Given the description of an element on the screen output the (x, y) to click on. 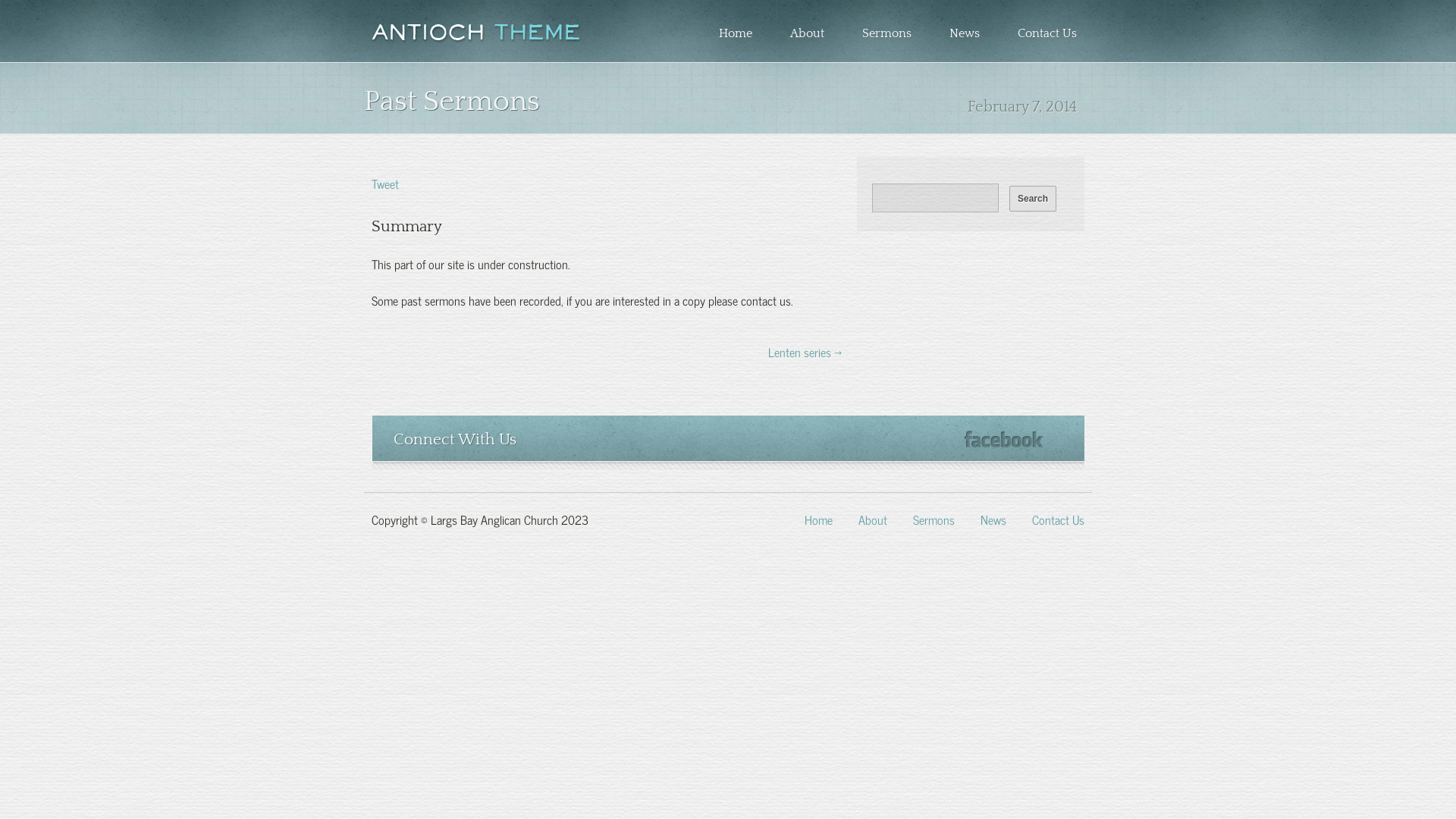
Home Element type: text (735, 32)
About Element type: text (872, 518)
Home Element type: text (818, 518)
Largs Bay Anglican Church Element type: text (476, 33)
Tweet Element type: text (384, 182)
Sermons Element type: text (886, 32)
News Element type: text (964, 32)
News Element type: text (993, 518)
About Element type: text (807, 32)
Sermons Element type: text (933, 518)
Search Element type: text (1032, 198)
Contact Us Element type: text (1046, 32)
Facebook Element type: text (1003, 439)
Contact Us Element type: text (1058, 518)
